Given the description of an element on the screen output the (x, y) to click on. 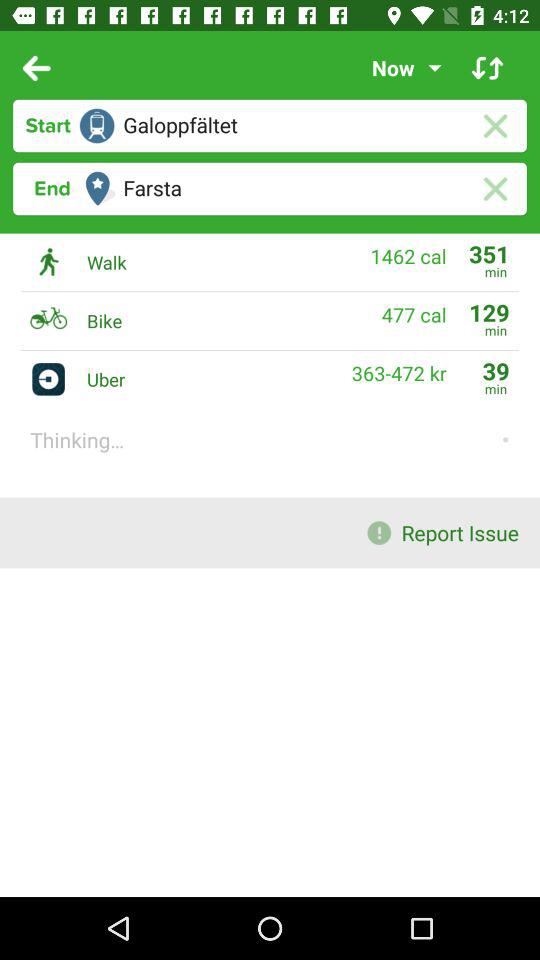
click x far right at end (494, 188)
